Given the description of an element on the screen output the (x, y) to click on. 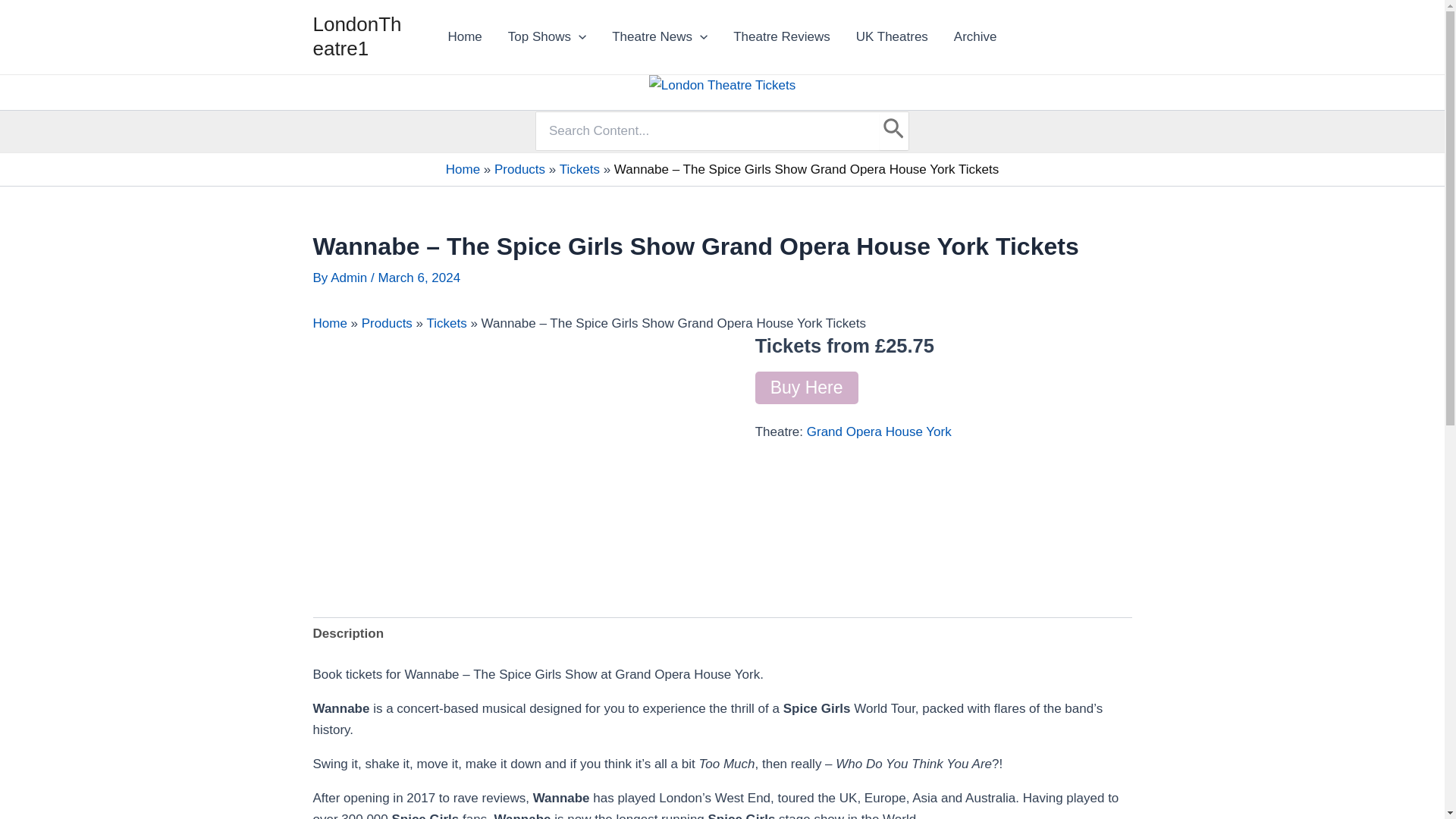
LondonTheatre1 (357, 36)
UK Theatres (891, 37)
UK Shows (891, 37)
Theatre News (659, 37)
Archive (975, 37)
View all posts by Admin (350, 278)
Home (464, 37)
Home (464, 37)
Theatre News (659, 37)
London Theatre Reviews (781, 37)
Top Shows (546, 37)
Top Selling Shows (546, 37)
Theatre Reviews (781, 37)
